Given the description of an element on the screen output the (x, y) to click on. 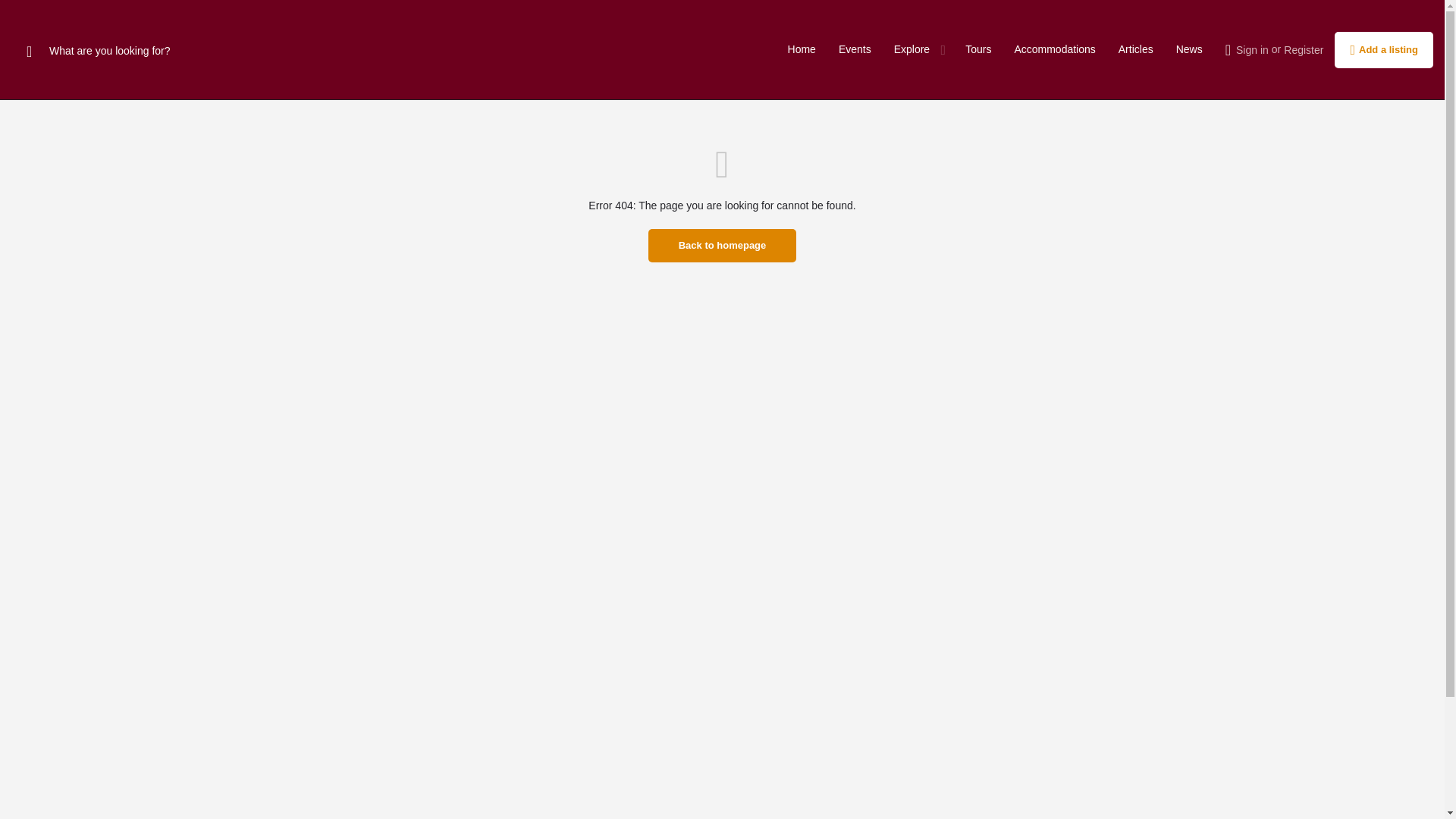
Back to homepage (721, 245)
Articles (1135, 49)
Register (1303, 49)
News (1189, 49)
Sign in (1252, 49)
Events (854, 49)
Explore (911, 49)
Add a listing (1383, 49)
Tours (978, 49)
Accommodations (1053, 49)
Home (801, 49)
